Given the description of an element on the screen output the (x, y) to click on. 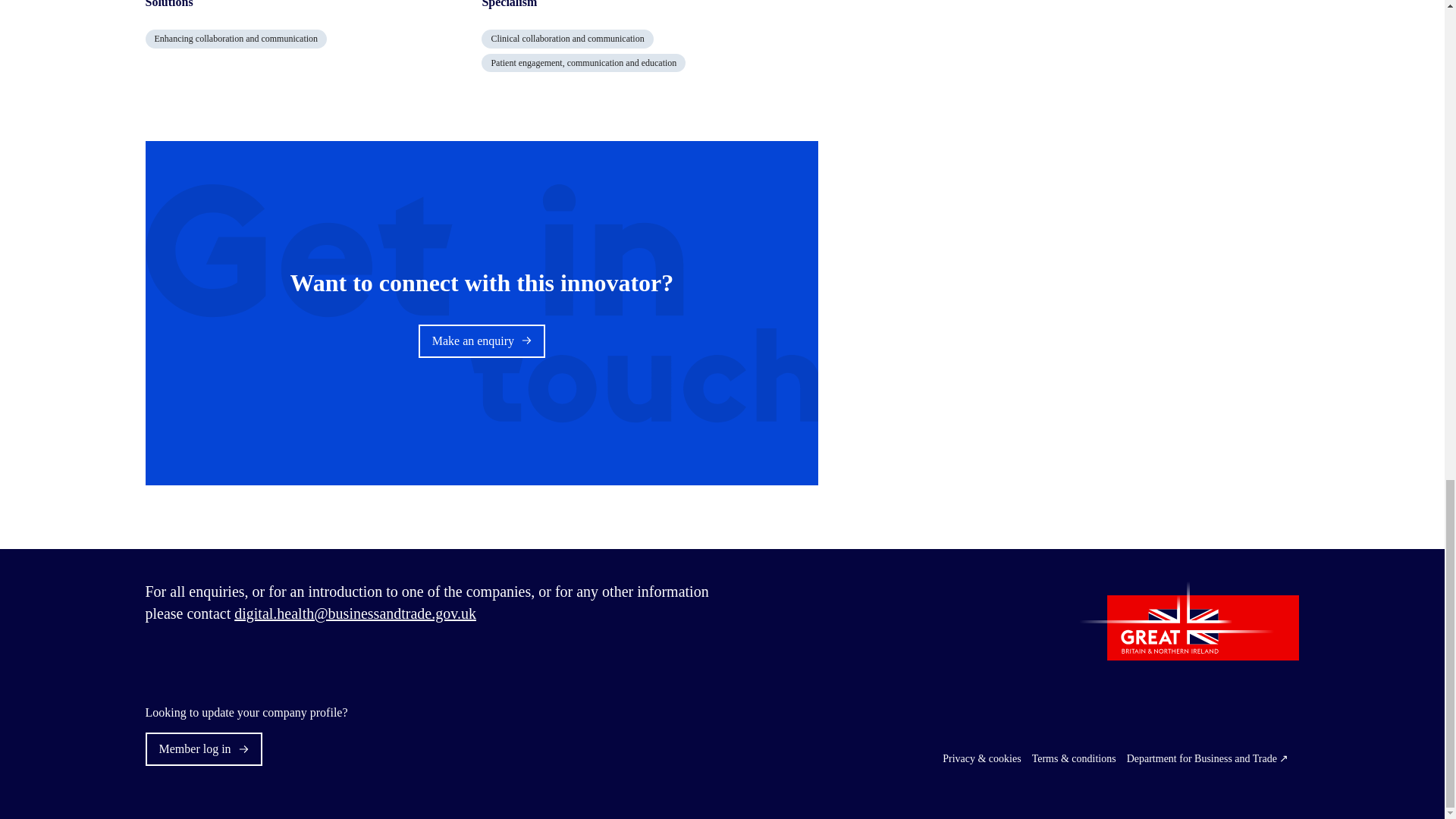
Member log in (203, 748)
Make an enquiry (481, 340)
